Given the description of an element on the screen output the (x, y) to click on. 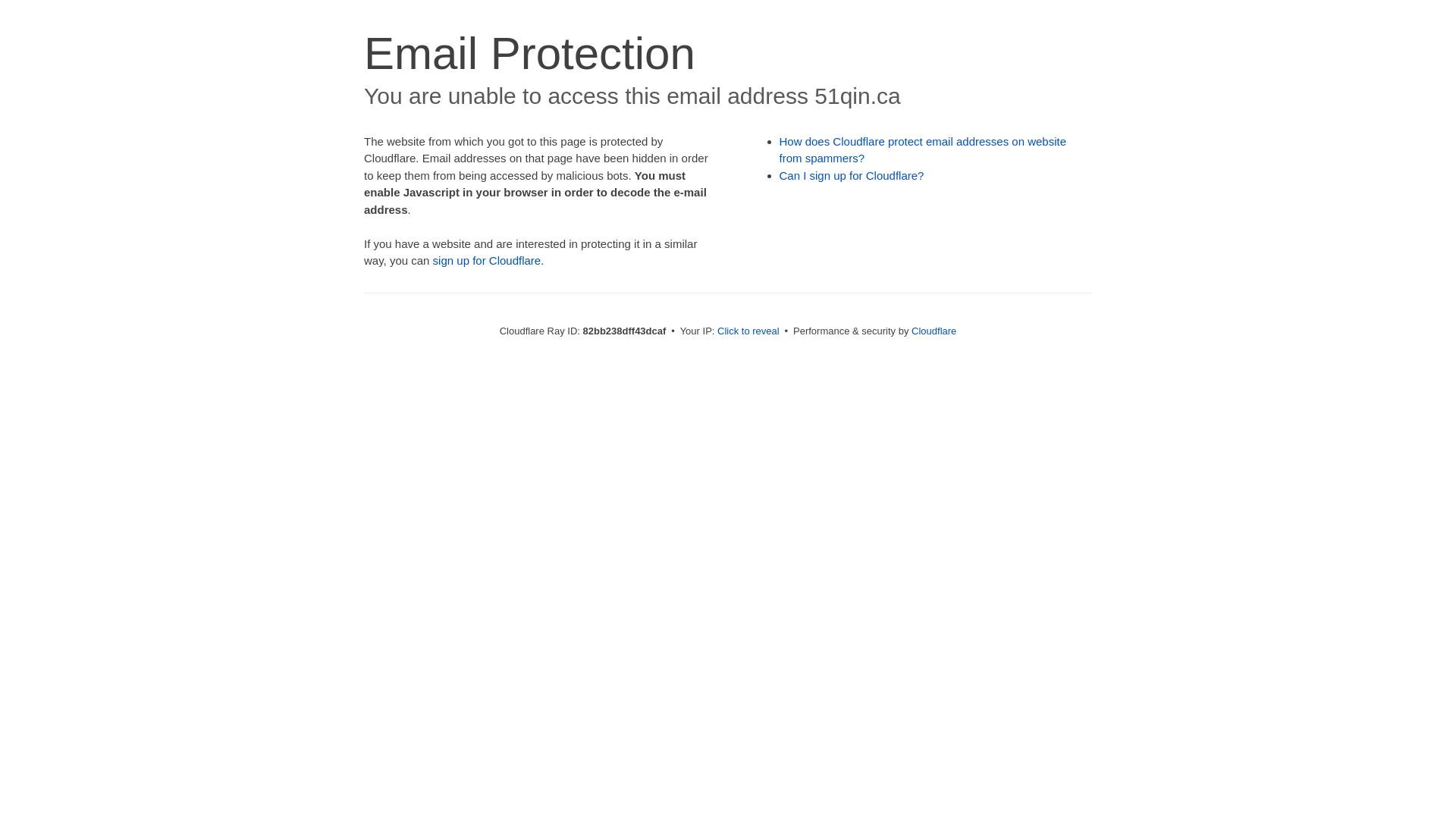
Click to reveal Element type: text (748, 330)
Cloudflare Element type: text (933, 330)
sign up for Cloudflare Element type: text (487, 260)
Can I sign up for Cloudflare? Element type: text (851, 175)
